Given the description of an element on the screen output the (x, y) to click on. 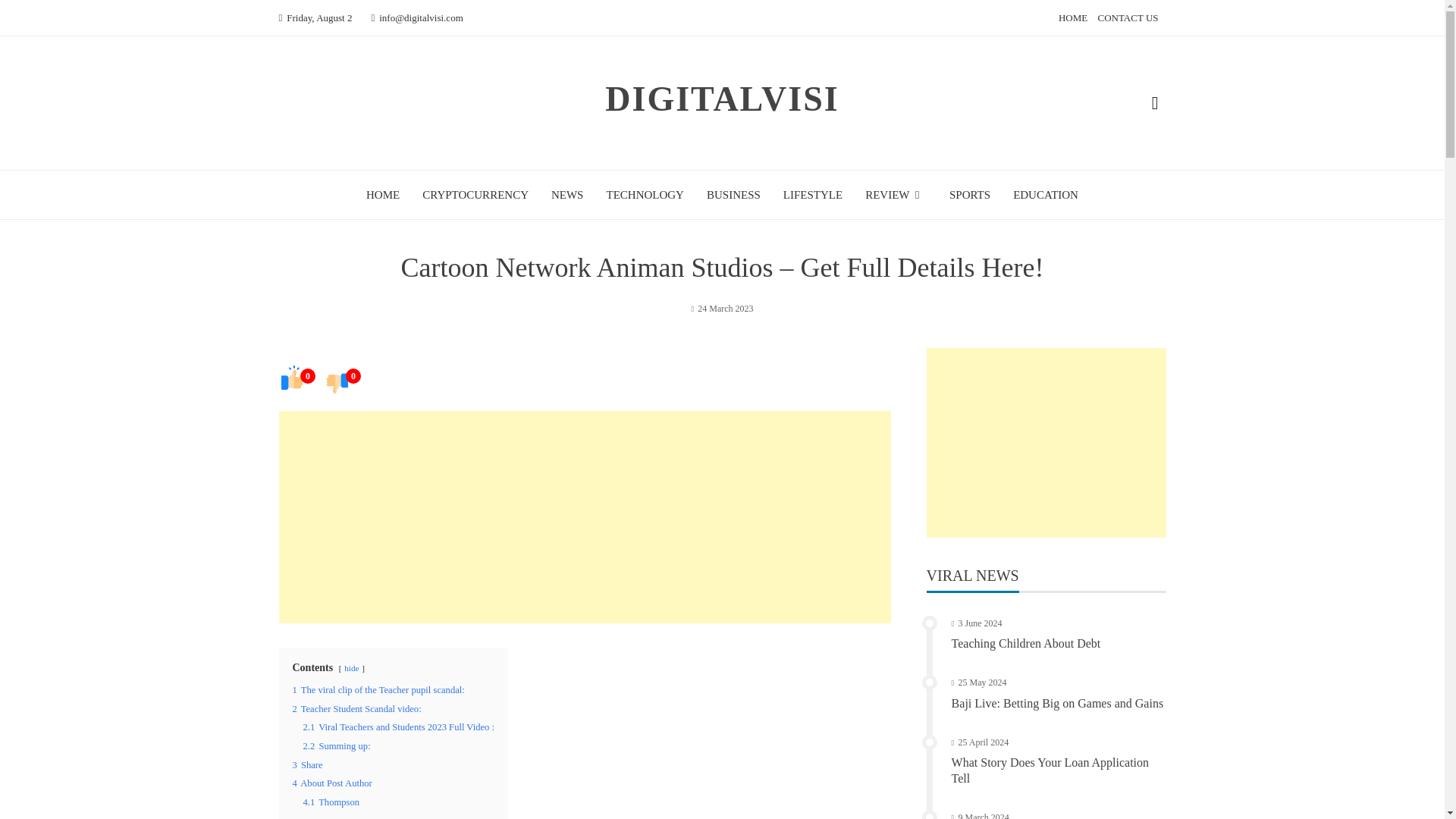
2 Teacher Student Scandal video: (357, 708)
4 About Post Author (332, 783)
Advertisement (585, 517)
NEWS (567, 194)
Advertisement (1046, 442)
hide (350, 667)
DIGITALVISI (721, 98)
4.1 Thompson (330, 801)
2.2 Summing up: (336, 746)
HOME (1072, 17)
CRYPTOCURRENCY (475, 194)
LIFESTYLE (813, 194)
2.1 Viral Teachers and Students 2023 Full Video : (398, 726)
1 The viral clip of the Teacher pupil scandal: (378, 689)
HOME (382, 194)
